Given the description of an element on the screen output the (x, y) to click on. 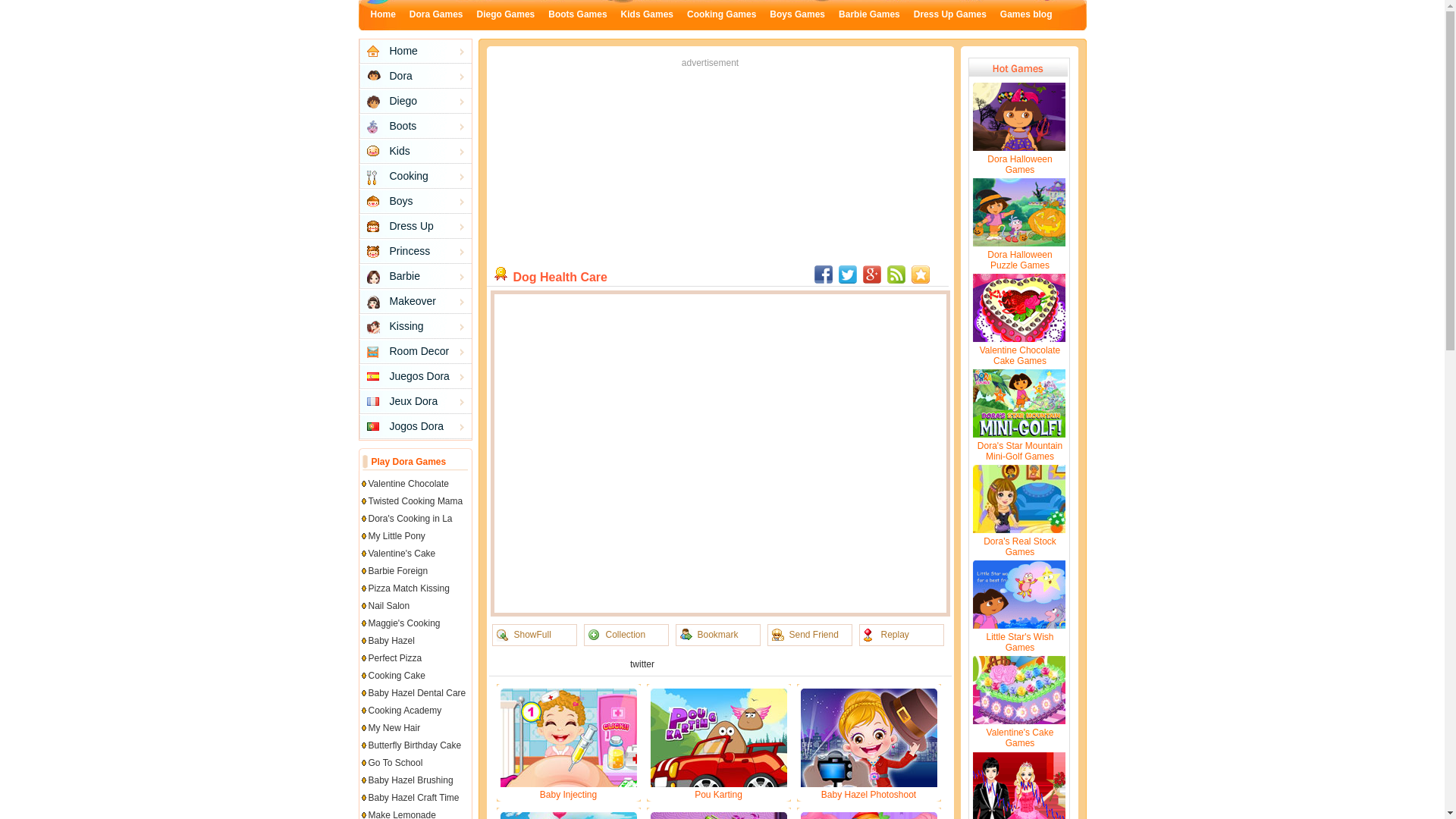
Pou Karting (718, 794)
twitter (641, 664)
Baby Injecting (568, 794)
Boys Games (797, 14)
Baby Injecting (568, 794)
Dress Up Games (950, 14)
Pou Karting (718, 794)
Cooking Games (721, 14)
Dress Up Games (950, 14)
Diego Games (506, 14)
